Given the description of an element on the screen output the (x, y) to click on. 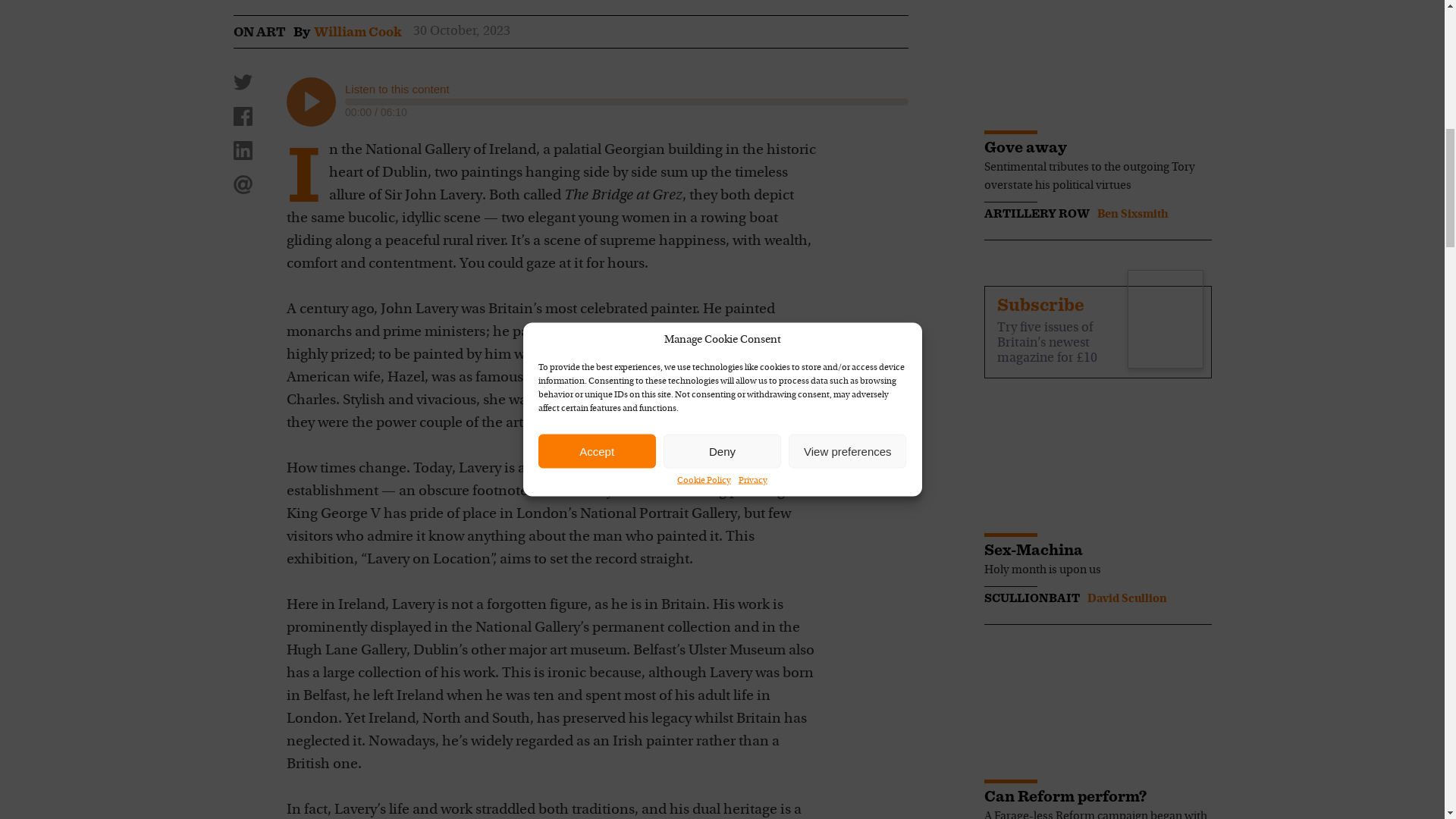
Posts by William Cook (357, 31)
Posts by Ben Sixsmith (1131, 214)
William Cook (357, 31)
Posts by David Scullion (1127, 598)
ON ART (258, 31)
